Given the description of an element on the screen output the (x, y) to click on. 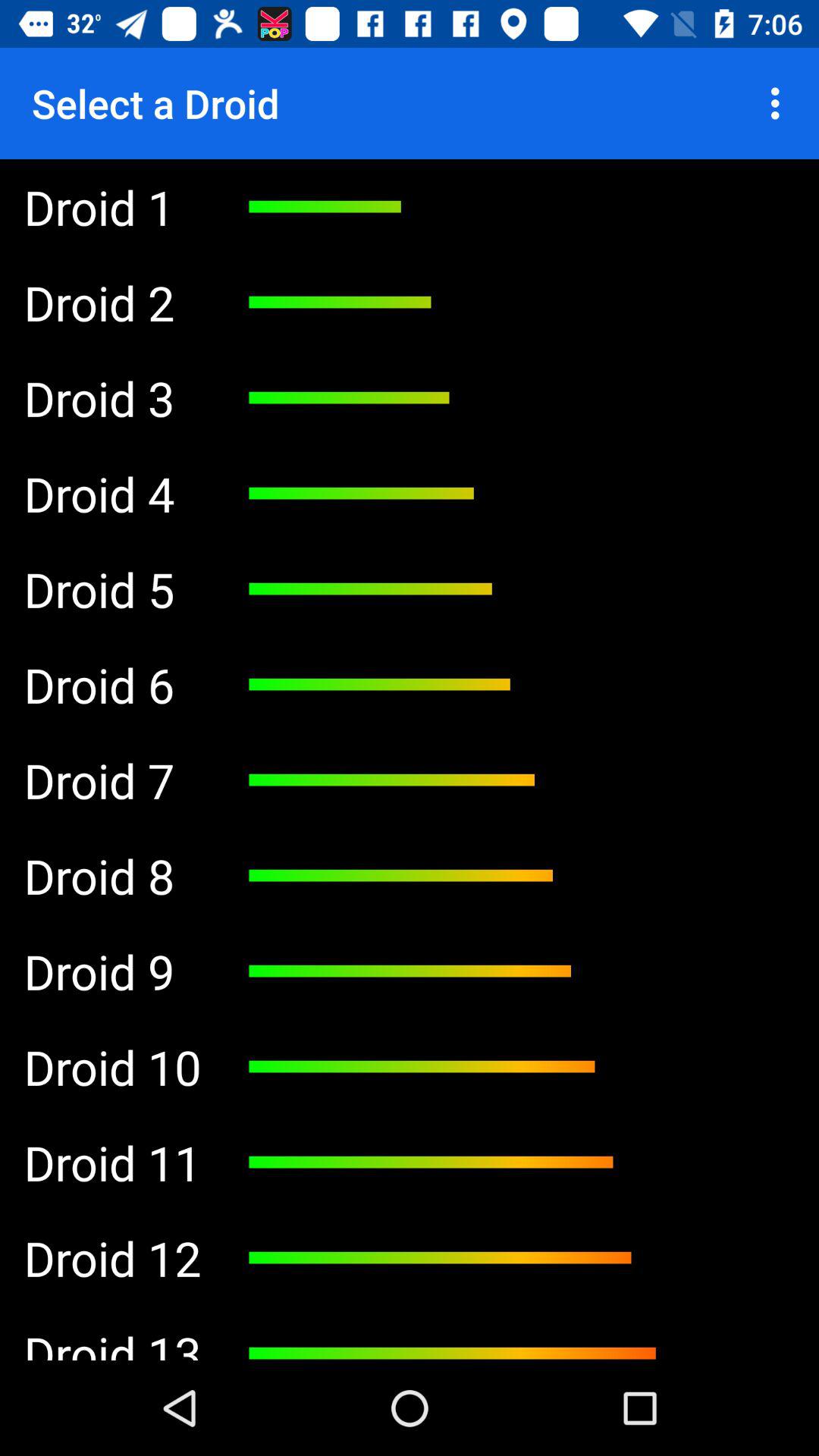
launch the app below droid 20 item (112, 1066)
